Given the description of an element on the screen output the (x, y) to click on. 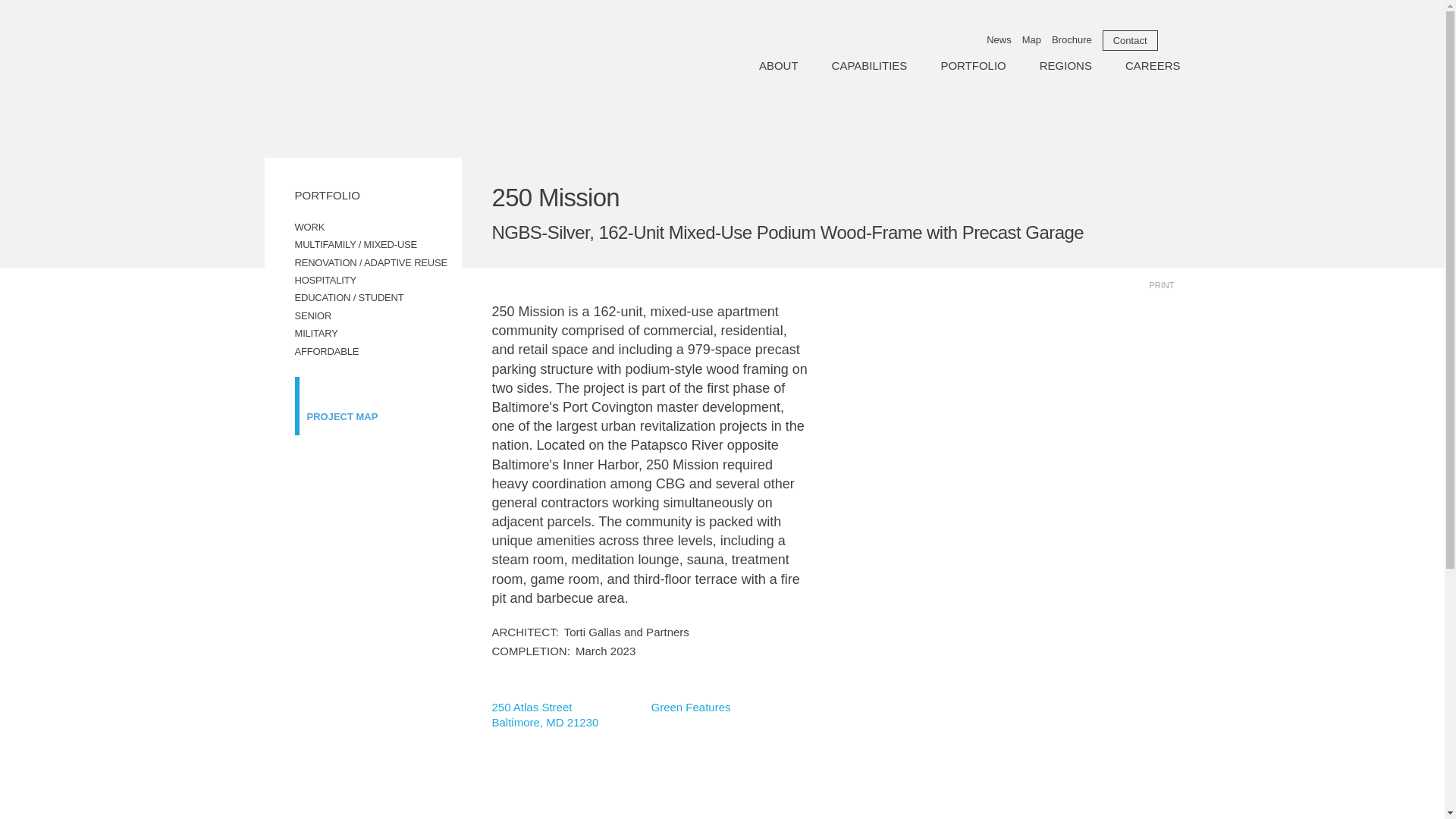
News (999, 39)
Brochure (1071, 39)
Contact (1129, 40)
Search Icon (1171, 40)
Map (1031, 39)
CAPABILITIES (869, 65)
PORTFOLIO (973, 65)
ABOUT (778, 65)
REGIONS (1065, 65)
